Given the description of an element on the screen output the (x, y) to click on. 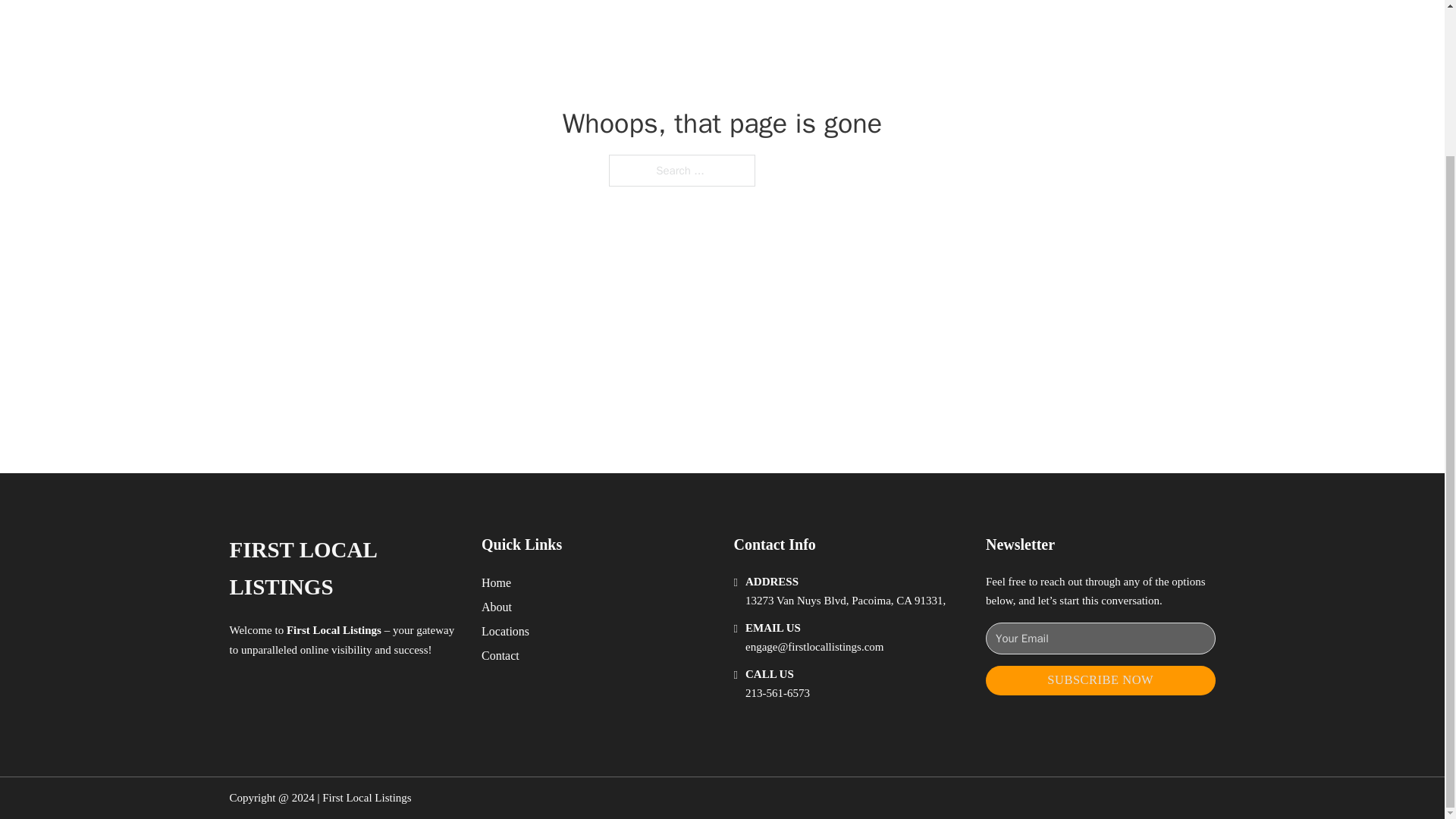
Home (496, 582)
Locations (505, 630)
About (496, 607)
SUBSCRIBE NOW (1100, 680)
Contact (500, 655)
213-561-6573 (777, 693)
FIRST LOCAL LISTINGS (343, 568)
